Given the description of an element on the screen output the (x, y) to click on. 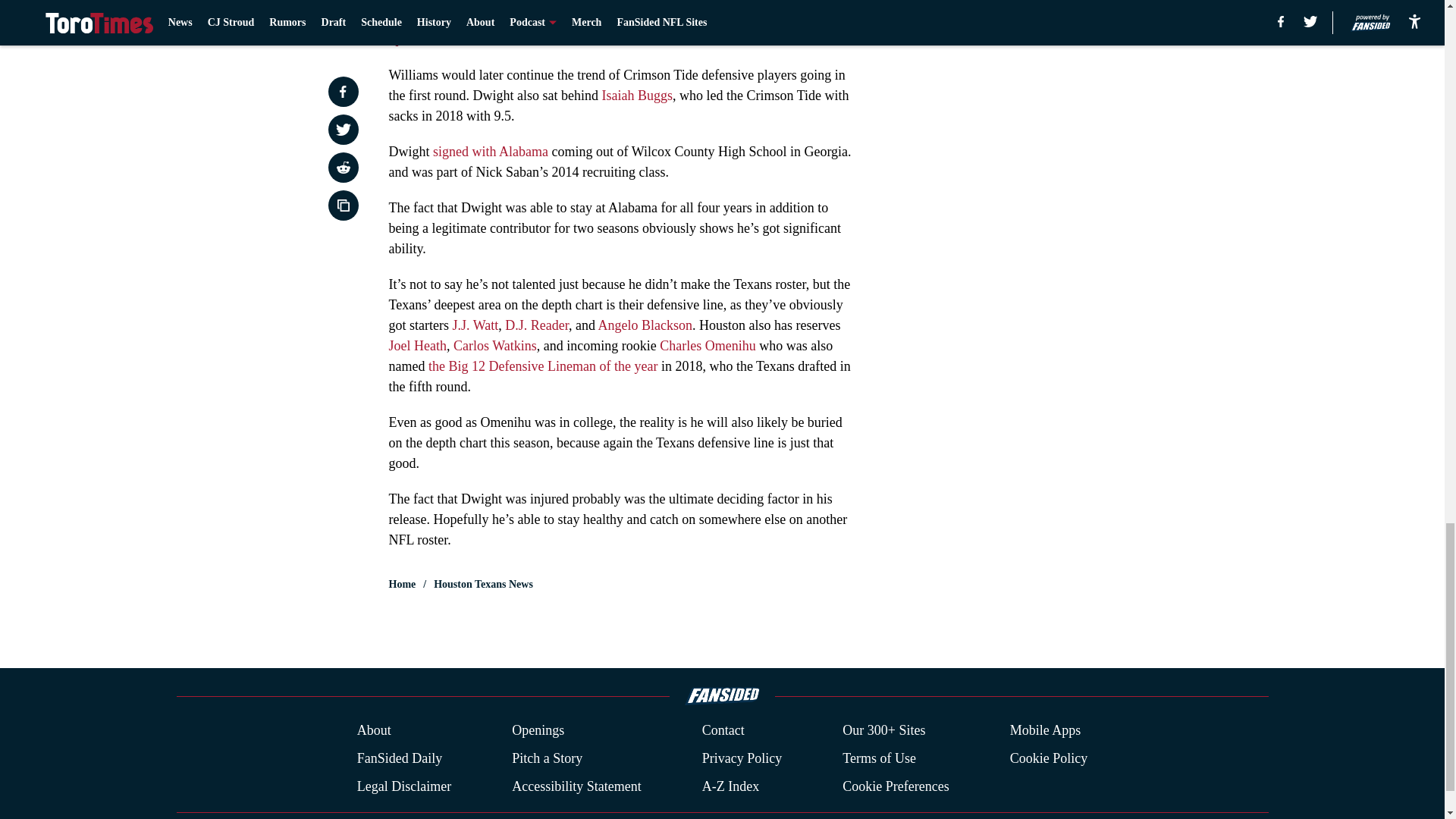
Angelo Blackson (643, 324)
Quinnen Williams (437, 38)
signed with Alabama (490, 151)
the Big 12 Defensive Lineman of the year (543, 365)
Charles Omenihu (707, 345)
Isaiah Buggs (636, 95)
Home (401, 584)
D.J. Reader (537, 324)
J.J. Watt (474, 324)
Houston Texans News (482, 584)
